Given the description of an element on the screen output the (x, y) to click on. 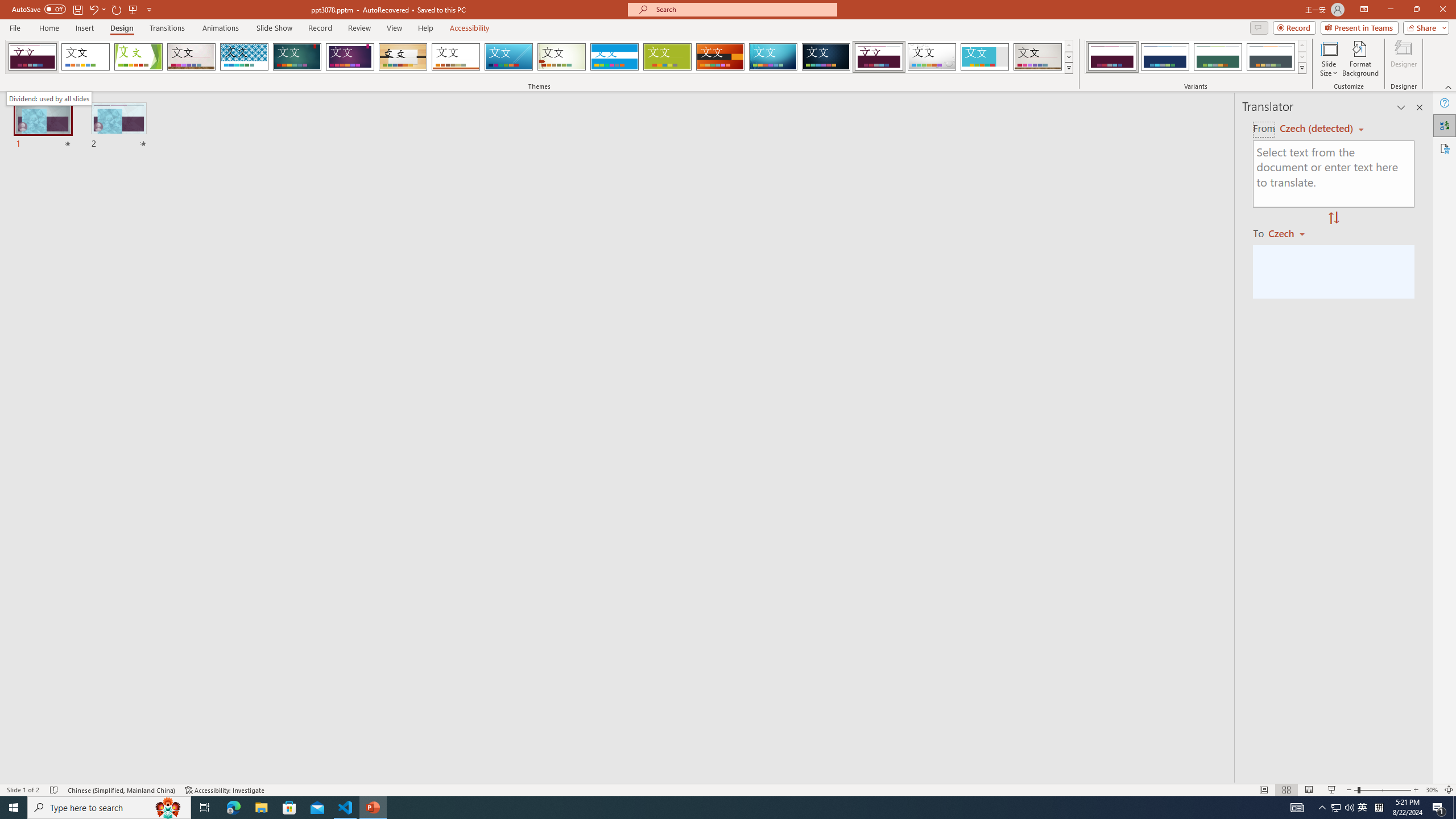
Office Theme (85, 56)
Ion Boardroom (350, 56)
Dividend (879, 56)
Ion (296, 56)
Zoom 30% (1431, 790)
Berlin (720, 56)
Organic (403, 56)
